Given the description of an element on the screen output the (x, y) to click on. 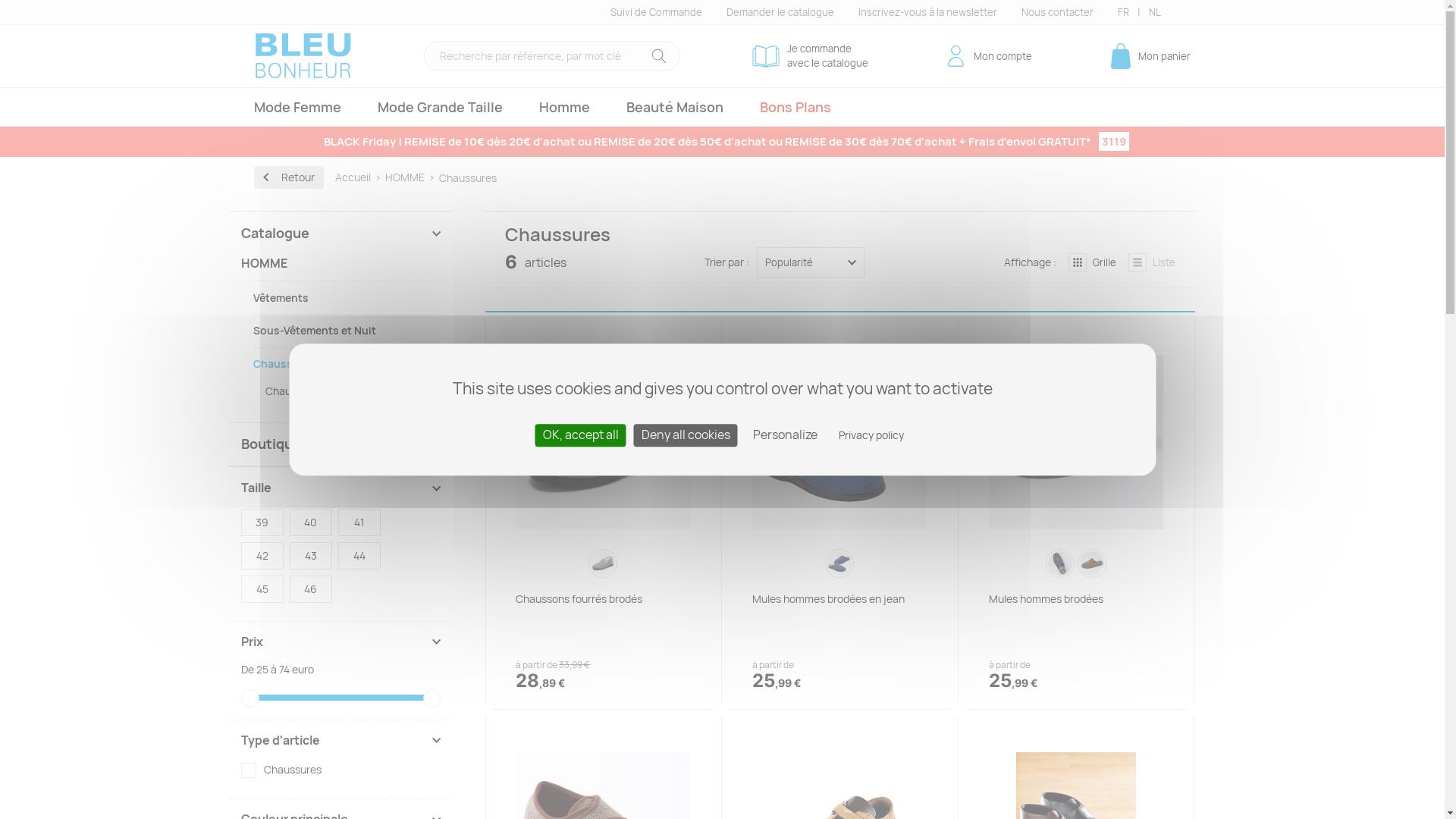
46 Element type: text (310, 588)
Chaussures et pantoufles Element type: text (353, 390)
HOMME Element type: text (341, 267)
Demander le catalogue Element type: text (780, 11)
Personalize Element type: text (784, 435)
NL Element type: text (1154, 11)
bleu-bonheur Element type: hover (302, 55)
Deny all cookies Element type: text (685, 435)
Je commande
avec le catalogue Element type: text (809, 54)
Homme Element type: text (563, 106)
Nous contacter Element type: text (1056, 11)
40 Element type: text (310, 522)
Bons Plans Element type: text (795, 106)
OK, accept all Element type: text (580, 435)
41 Element type: text (359, 522)
Privacy policy Element type: text (870, 435)
Mode Femme Element type: text (296, 106)
Mon compte Element type: text (986, 55)
Accueil Element type: text (358, 176)
FR Element type: text (1123, 11)
42 Element type: text (262, 555)
Suivi de Commande Element type: text (655, 11)
Chaussures Element type: text (347, 363)
OK Element type: text (659, 55)
Mon panier Element type: text (1147, 55)
43 Element type: text (310, 555)
45 Element type: text (262, 588)
Mode Grande Taille Element type: text (439, 106)
39 Element type: text (262, 522)
Chaussures Element type: text (281, 769)
Liste Element type: text (1145, 262)
Retour Element type: text (288, 177)
44 Element type: text (359, 555)
HOMME Element type: text (410, 176)
